Given the description of an element on the screen output the (x, y) to click on. 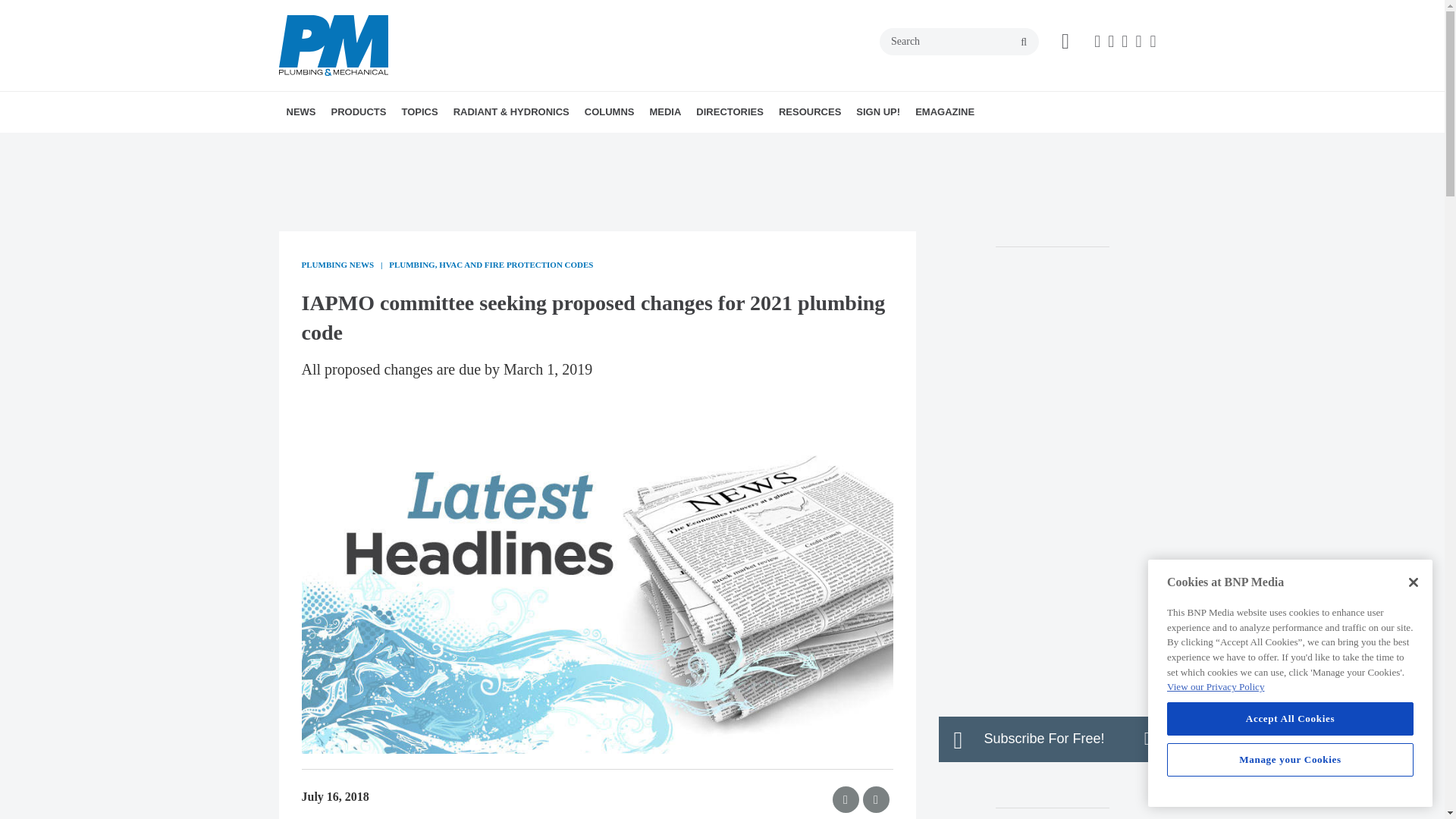
NICOLE KRAWCKE (694, 145)
MECHANICAL SYSTEMS (522, 145)
FIRE PROTECTION (515, 145)
search (1023, 42)
CODES (501, 145)
WATER TREATMENT (530, 145)
PRODUCTS (358, 111)
TOPICS (419, 111)
CODES CORNER (671, 145)
JOHN SIEGENTHALER (683, 145)
